Given the description of an element on the screen output the (x, y) to click on. 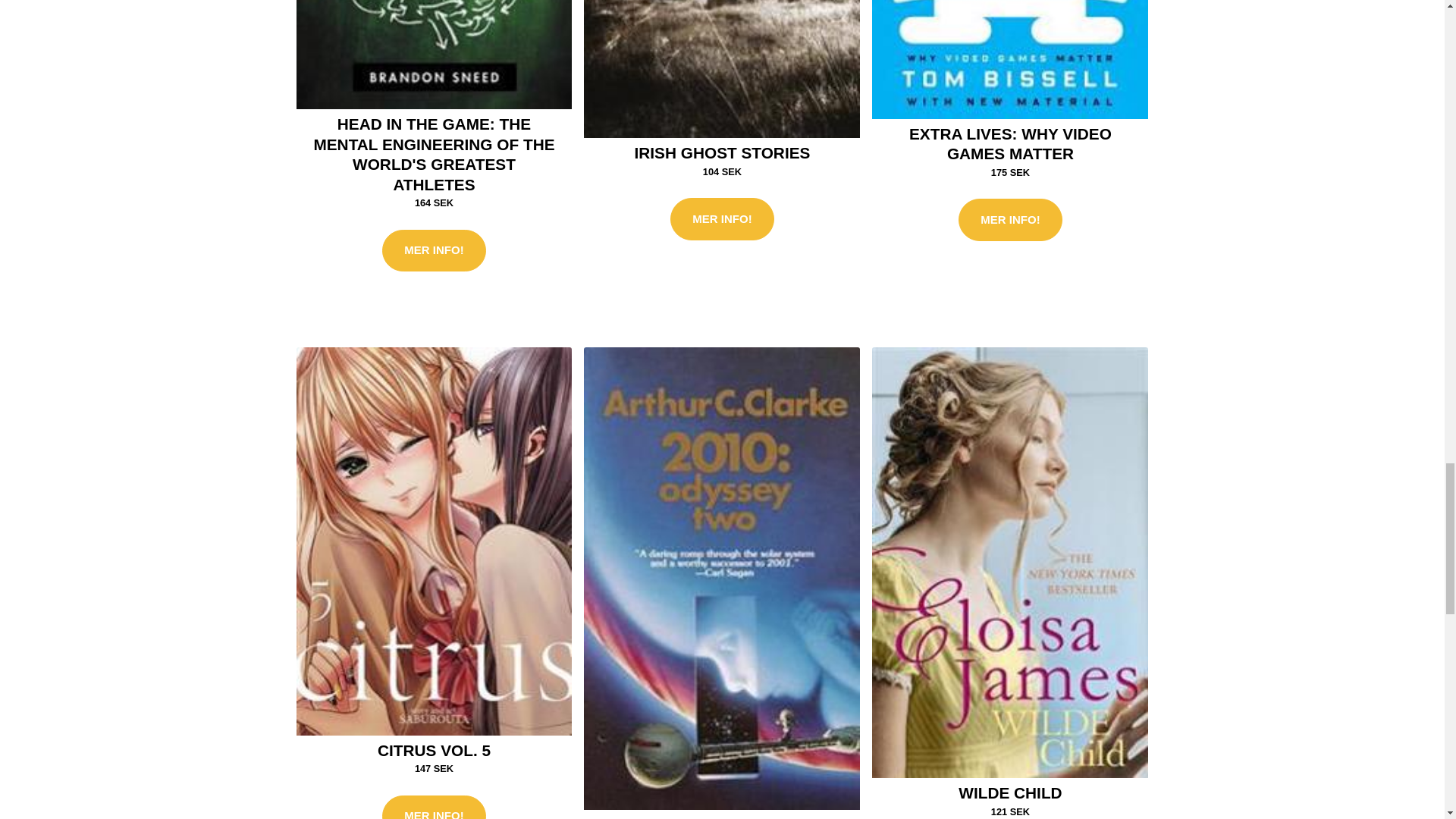
MER INFO! (432, 250)
IRISH GHOST STORIES (722, 152)
